Given the description of an element on the screen output the (x, y) to click on. 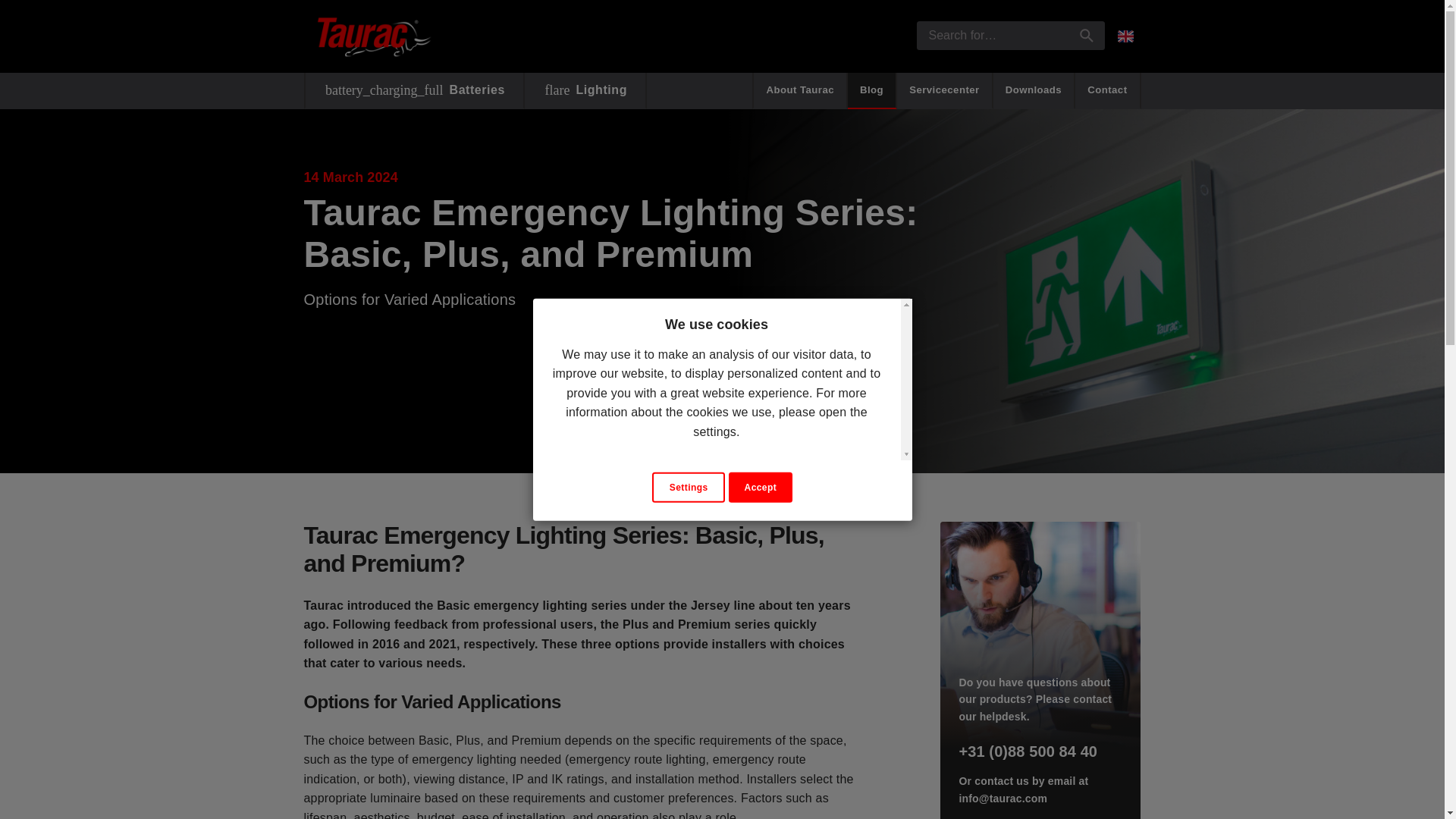
Servicecenter (944, 90)
Taurac (373, 36)
Settings (688, 486)
About Taurac (799, 90)
Accept (760, 486)
Blog (585, 90)
Downloads (871, 90)
Contact (1033, 90)
